Given the description of an element on the screen output the (x, y) to click on. 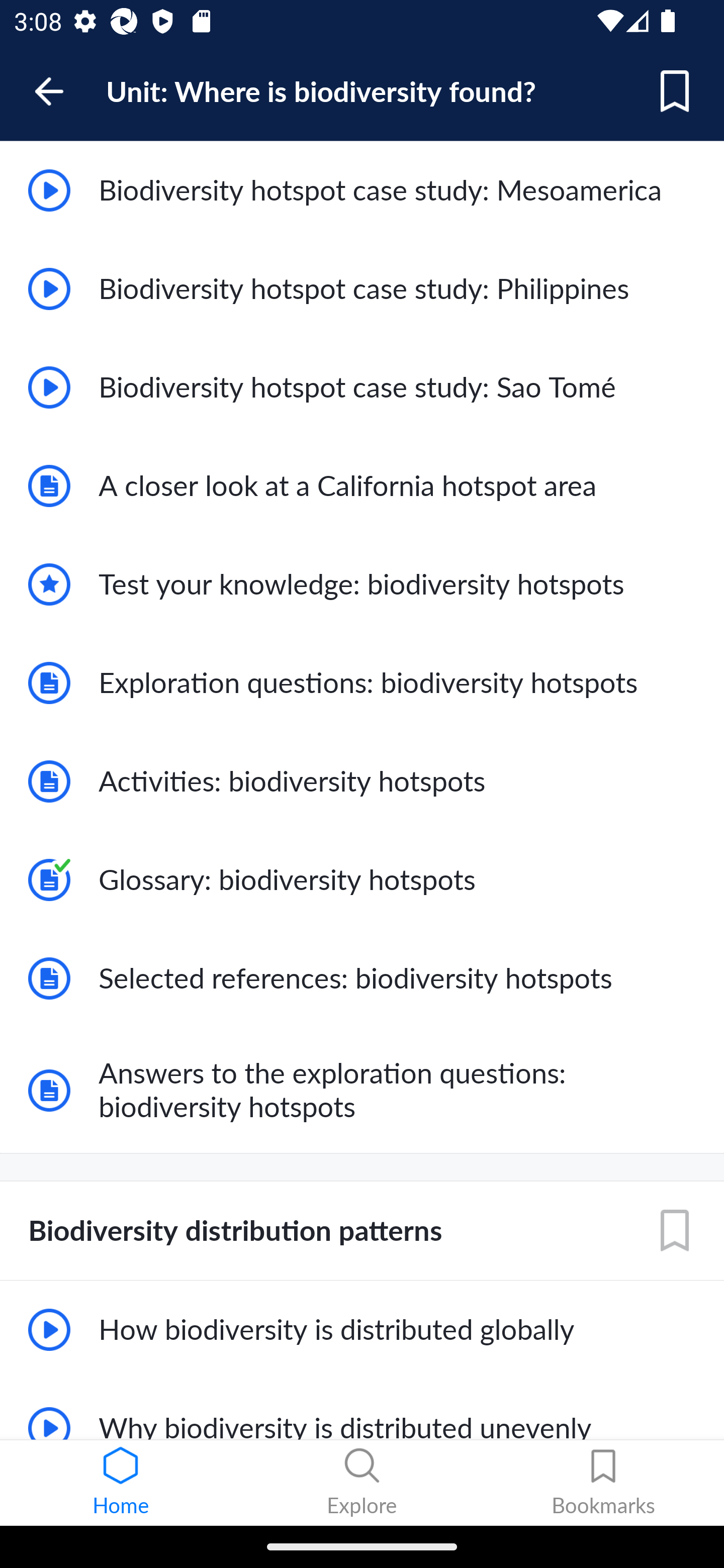
Biodiversity hotspot case study: Madagascar (362, 91)
Back (58, 91)
Add Bookmark (674, 91)
Biodiversity hotspot case study: Mesoamerica (362, 190)
Biodiversity hotspot case study: Philippines (362, 288)
Biodiversity hotspot case study: Sao Tomé (362, 387)
A closer look at a California hotspot area (362, 485)
Test your knowledge: biodiversity hotspots (362, 583)
Exploration questions: biodiversity hotspots (362, 682)
Activities: biodiversity hotspots (362, 781)
Glossary: biodiversity hotspots (362, 880)
Selected references: biodiversity hotspots (362, 978)
Add Bookmark (674, 1229)
How biodiversity is distributed globally (362, 1329)
Why biodiversity is distributed unevenly (362, 1408)
Home (120, 1482)
Explore (361, 1482)
Bookmarks (603, 1482)
